Given the description of an element on the screen output the (x, y) to click on. 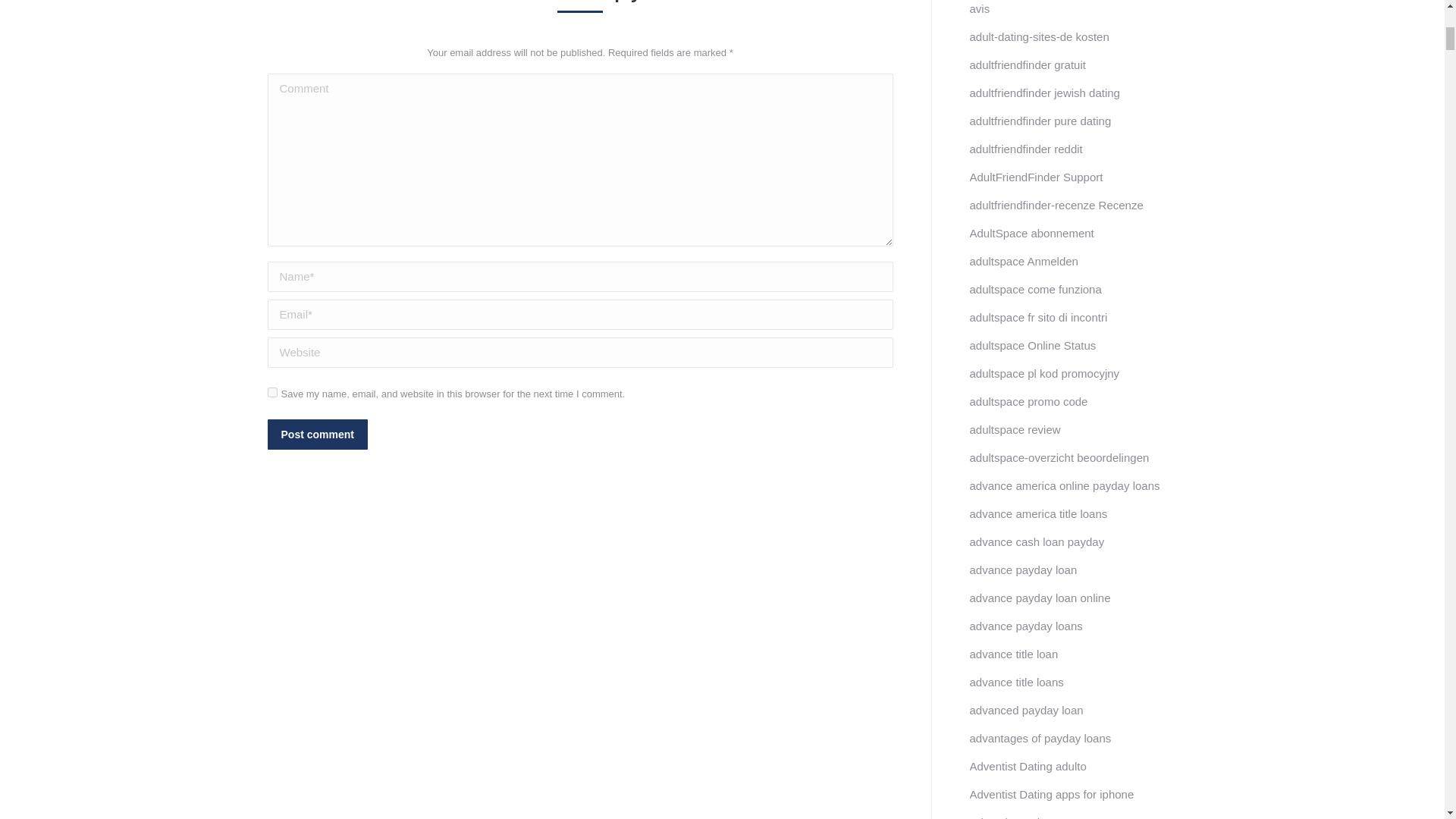
Post comment (316, 434)
yes (271, 392)
